Given the description of an element on the screen output the (x, y) to click on. 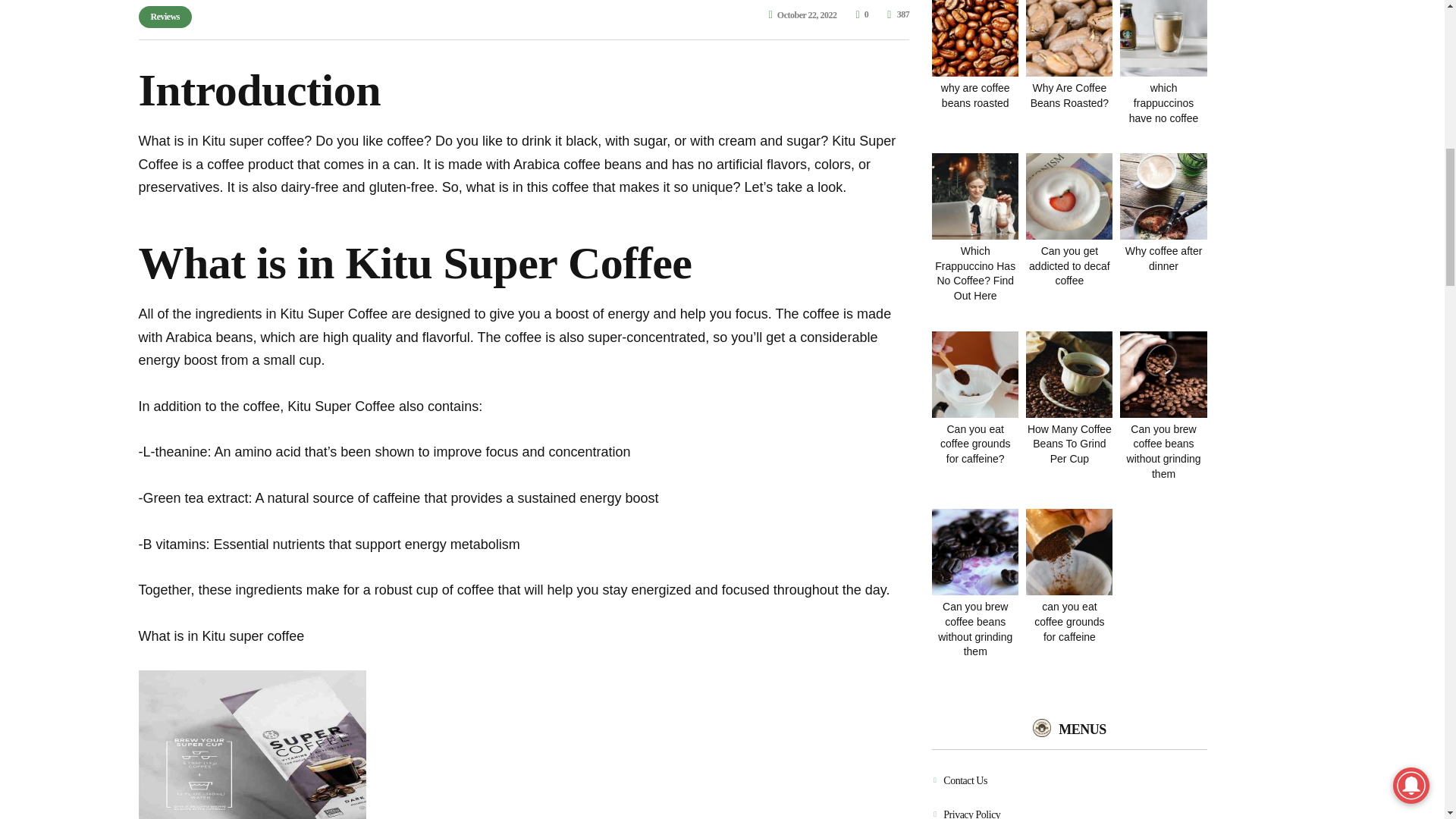
Reviews (165, 16)
What is in Kitu Super Coffee (414, 263)
October 22, 2022 (802, 14)
